Given the description of an element on the screen output the (x, y) to click on. 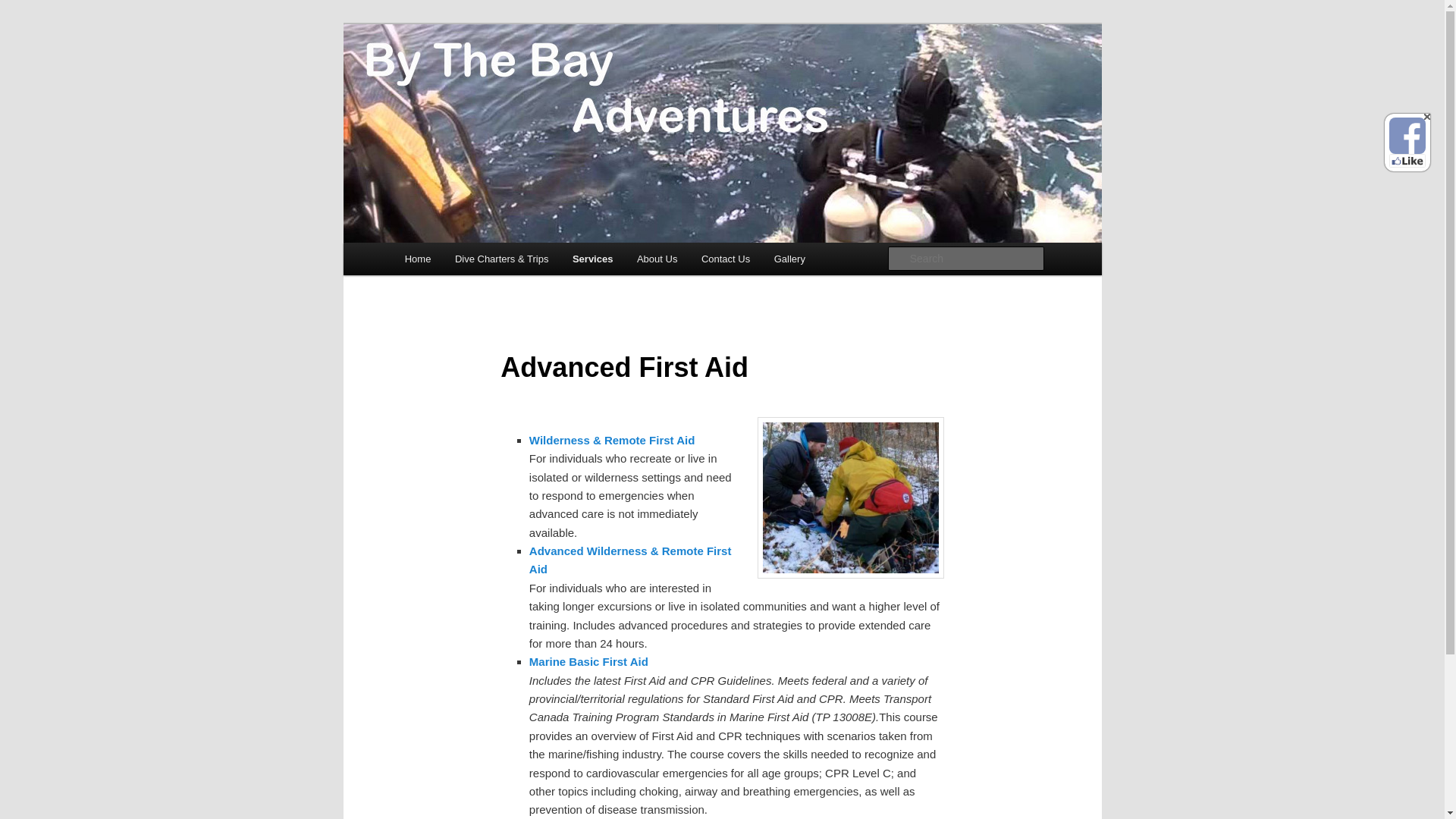
About Us (656, 258)
By The Bay Adventures (527, 78)
Marine Basic First Aid (588, 661)
hide (1426, 116)
Search (24, 8)
Contact Us (724, 258)
Home (417, 258)
Gallery (788, 258)
Advanced Wilderness Remote First Aid (630, 559)
WFR Scenario (850, 497)
Visit Us On Facebook  (1407, 135)
Services (592, 258)
Marine First Aid (588, 661)
Wilderness Remote First Aid (612, 440)
